Given the description of an element on the screen output the (x, y) to click on. 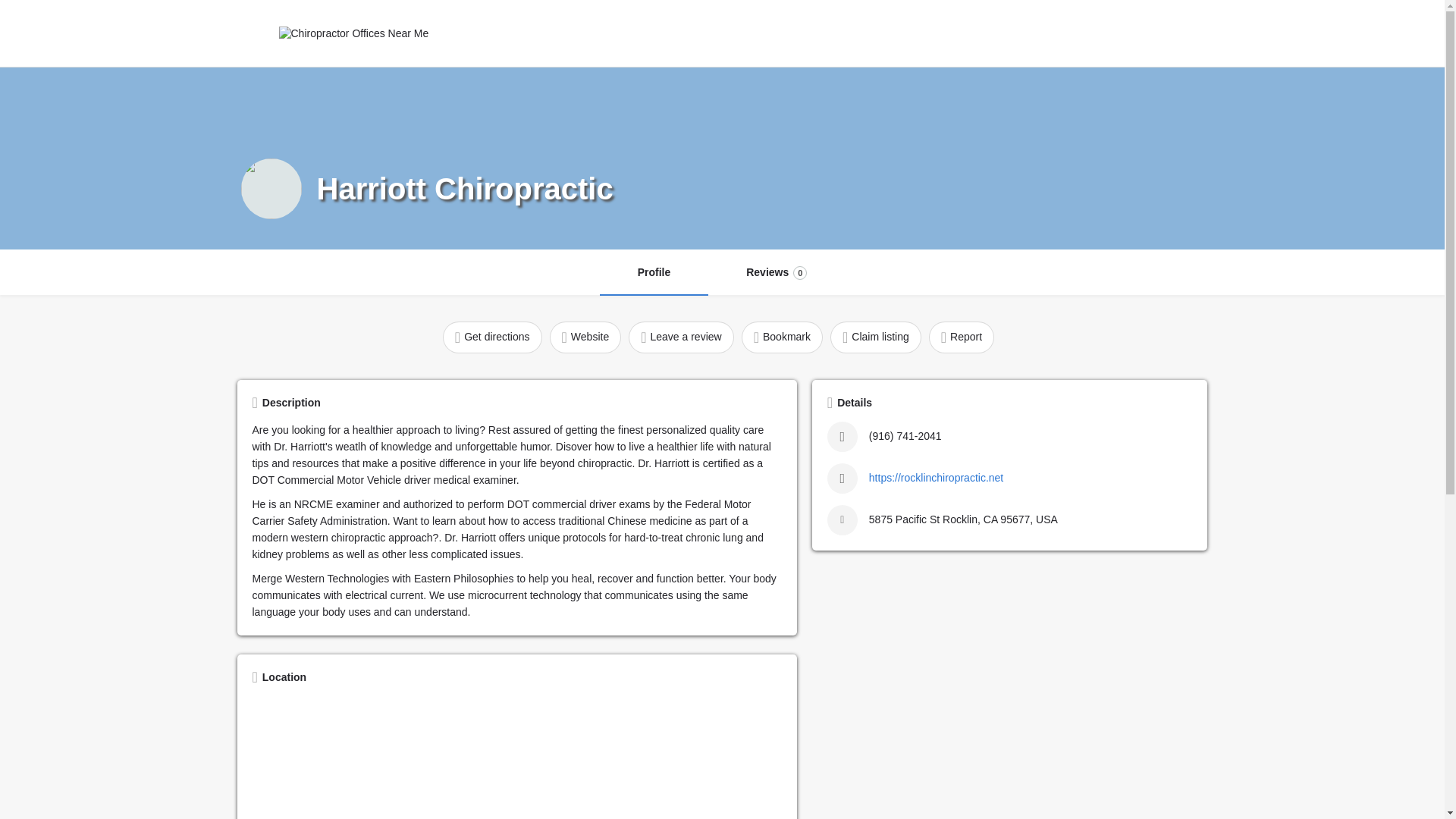
Profile (654, 272)
Report (961, 336)
Leave a review (775, 272)
My Account (680, 336)
Bookmark (522, 32)
Home (781, 336)
Claim listing (457, 32)
Get directions (875, 336)
Sign in (491, 336)
Website (1083, 33)
Register (585, 336)
